Given the description of an element on the screen output the (x, y) to click on. 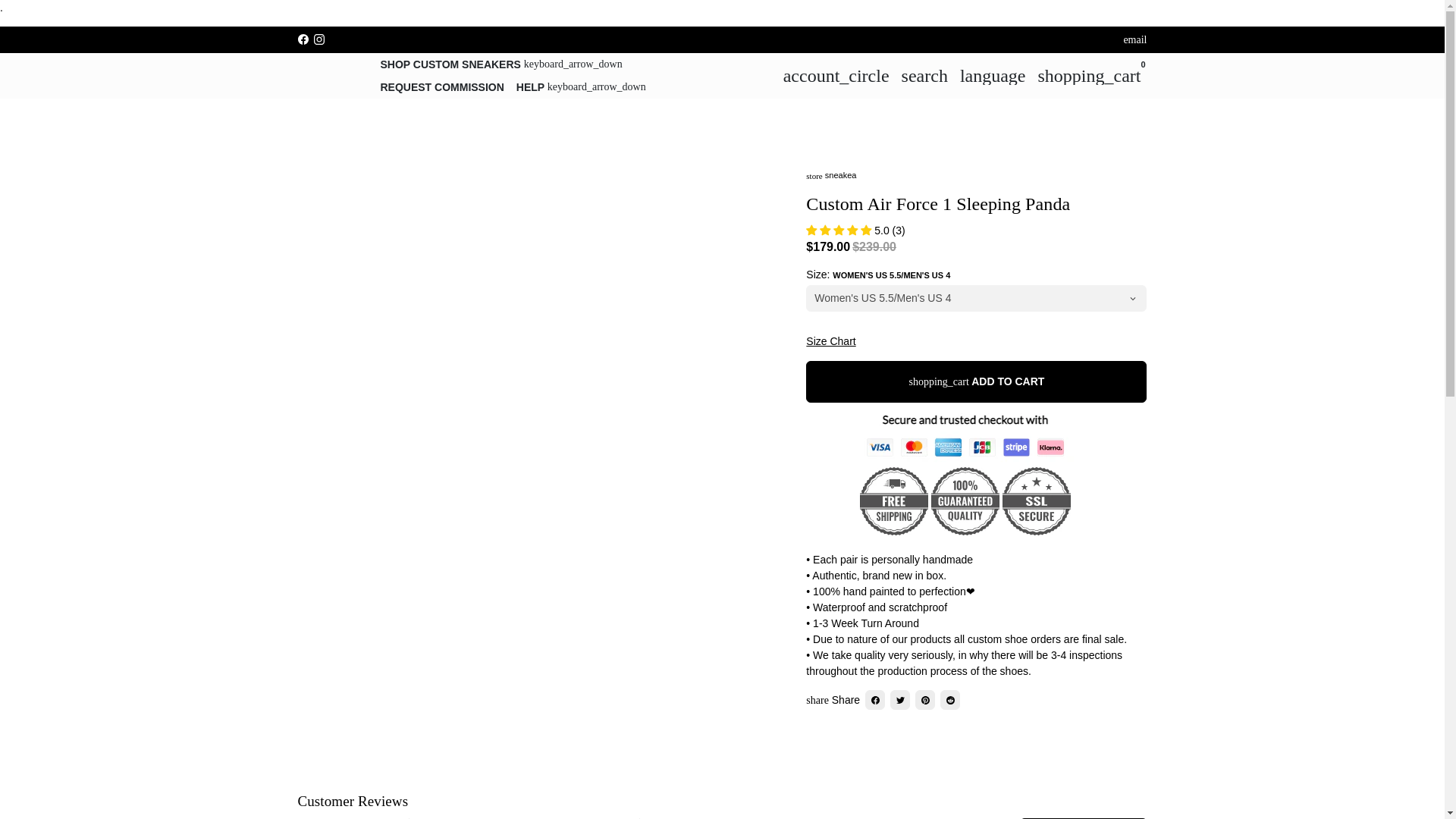
search (924, 75)
Cart (1089, 75)
Tweet on Twitter (899, 700)
Log In (836, 75)
language (992, 75)
Share on Facebook (874, 700)
email (1134, 39)
Search (924, 75)
REQUEST COMMISSION (442, 87)
